Given the description of an element on the screen output the (x, y) to click on. 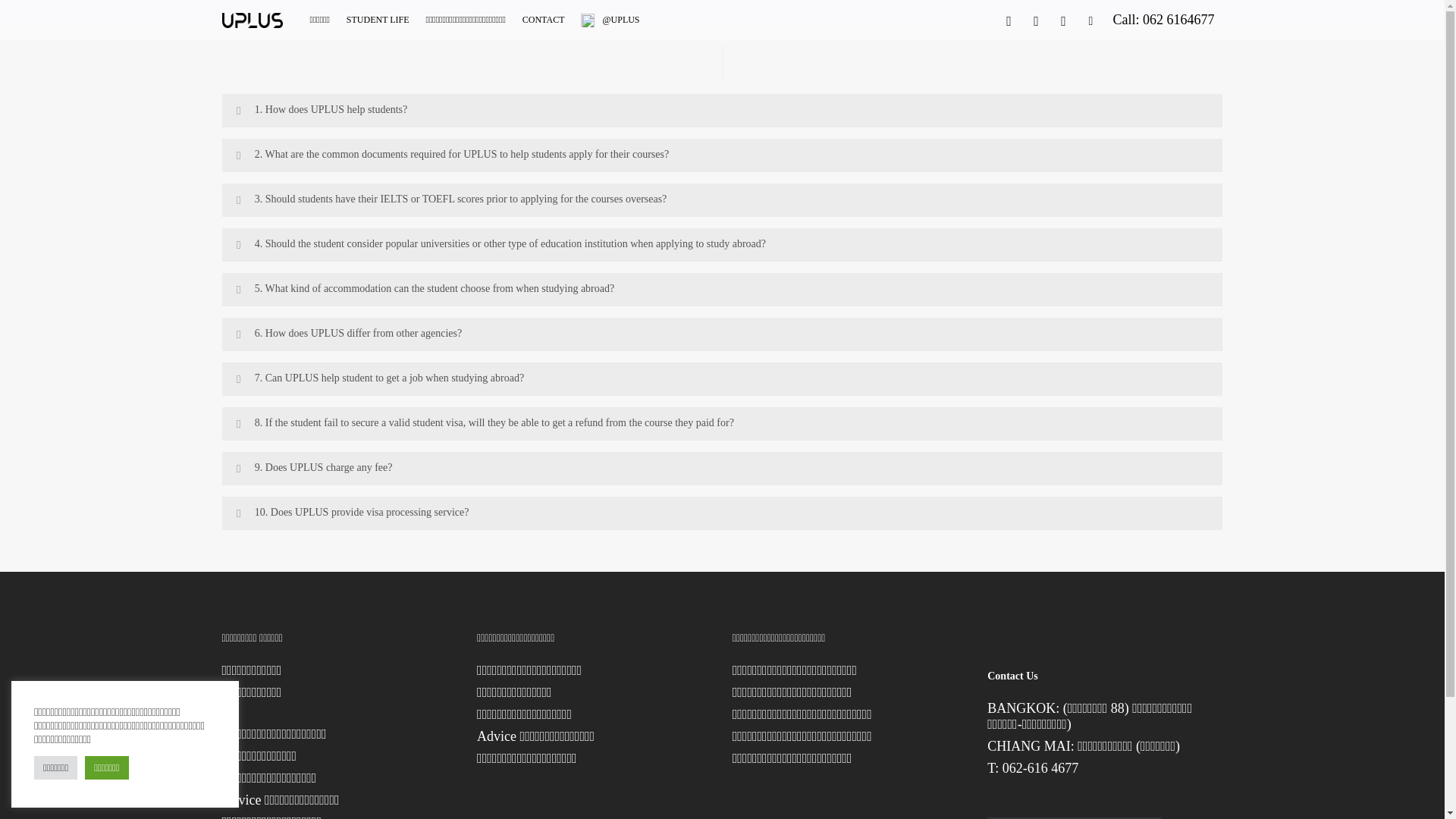
STUDENT LIFE (377, 19)
X-TWITTER (1008, 19)
CONTACT (543, 19)
INSTAGRAM (1063, 19)
6. How does UPLUS differ from other agencies? (722, 334)
TIKTOK (1090, 19)
